Given the description of an element on the screen output the (x, y) to click on. 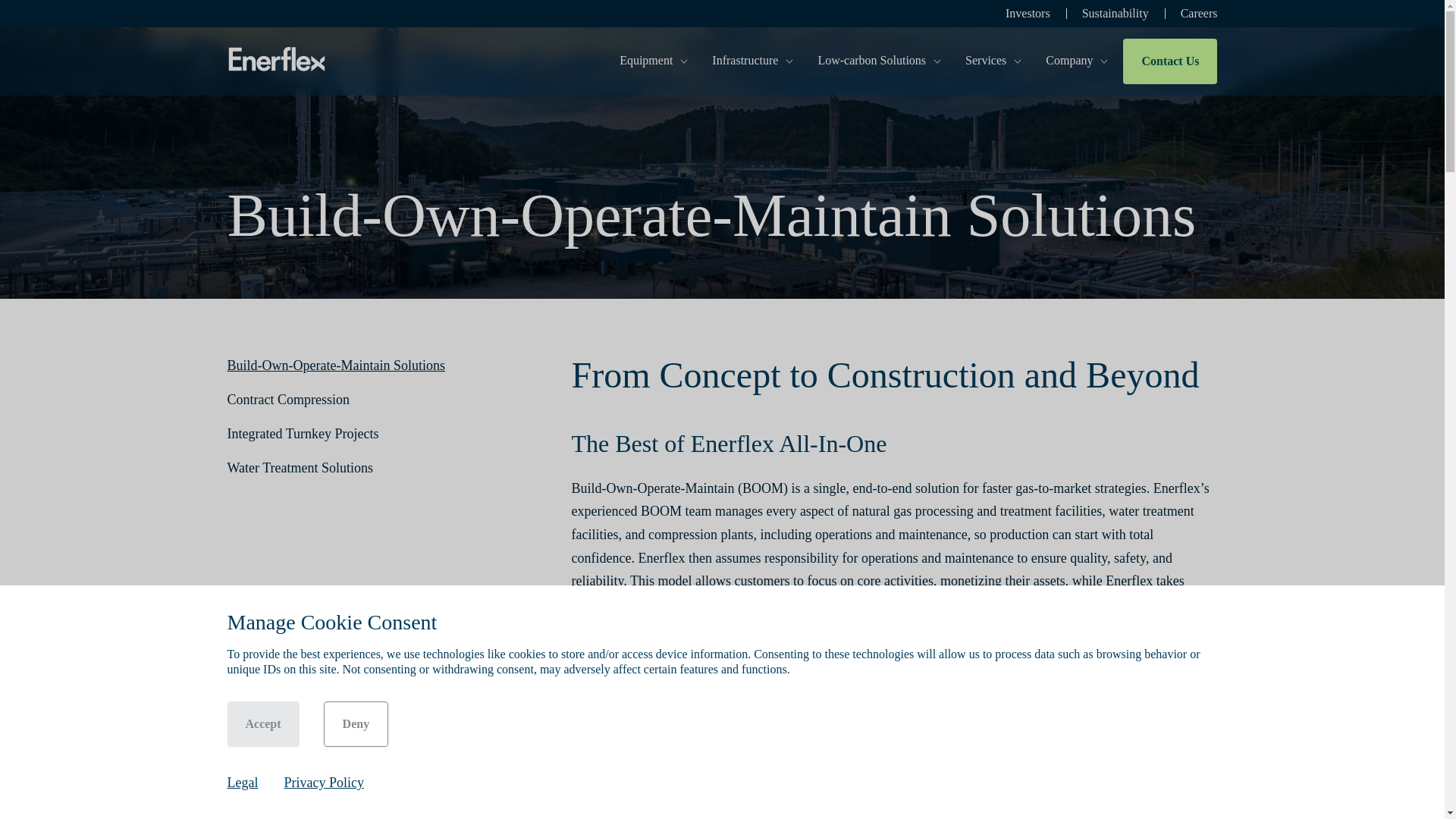
Sustainability (1114, 13)
Services (996, 61)
Contact Us (1169, 61)
Equipment (656, 61)
Enferflex logo (276, 60)
Infrastructure (755, 61)
Low-carbon Solutions (882, 61)
Company (1076, 61)
Investors (1027, 13)
